Given the description of an element on the screen output the (x, y) to click on. 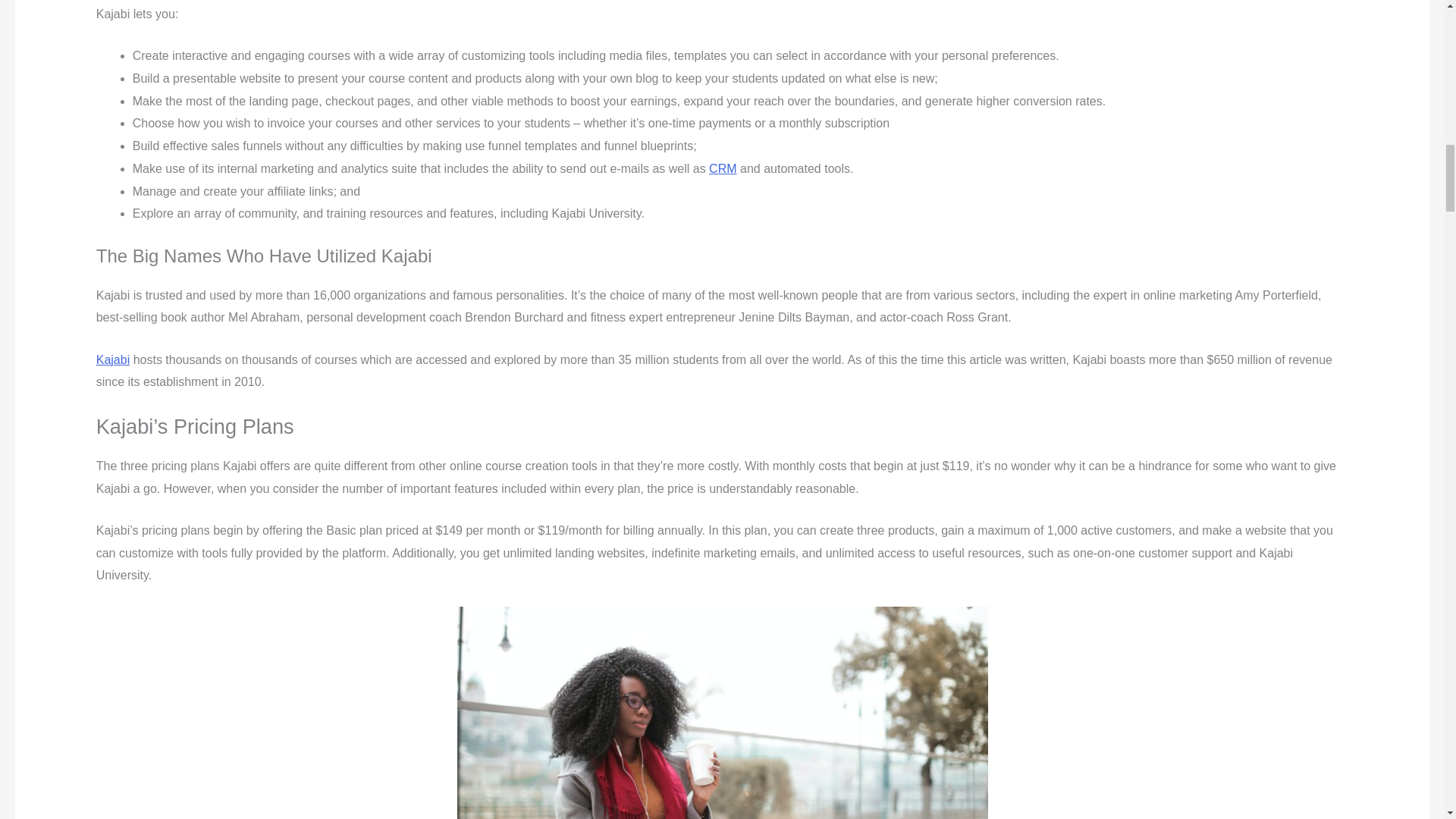
CRM (722, 168)
Kajabi (112, 359)
